Given the description of an element on the screen output the (x, y) to click on. 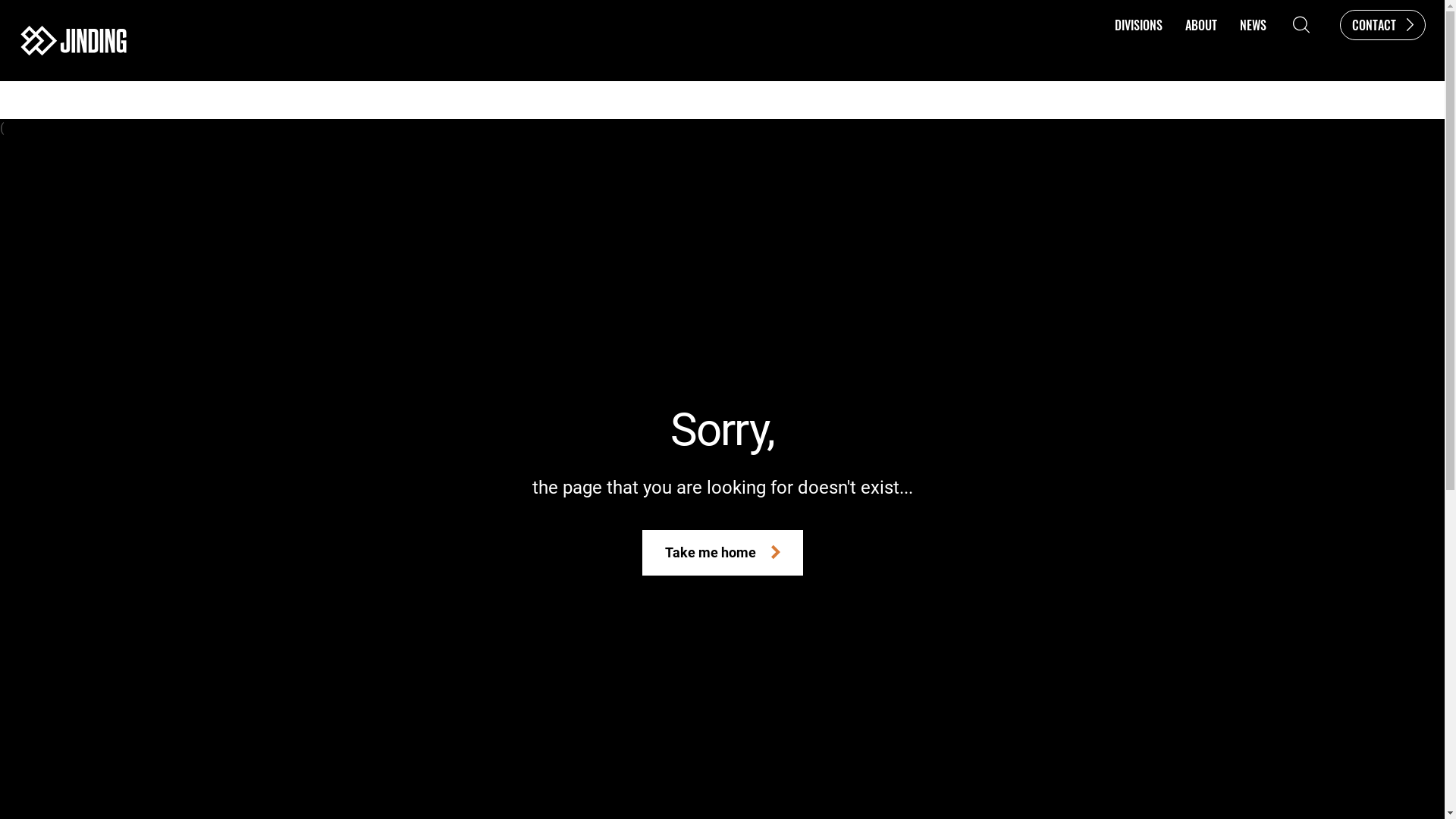
DIVISIONS Element type: text (1138, 23)
ABOUT Element type: text (1200, 23)
Take me home Element type: text (721, 552)
NEWS Element type: text (1252, 23)
CONTACT Element type: text (1382, 24)
